Given the description of an element on the screen output the (x, y) to click on. 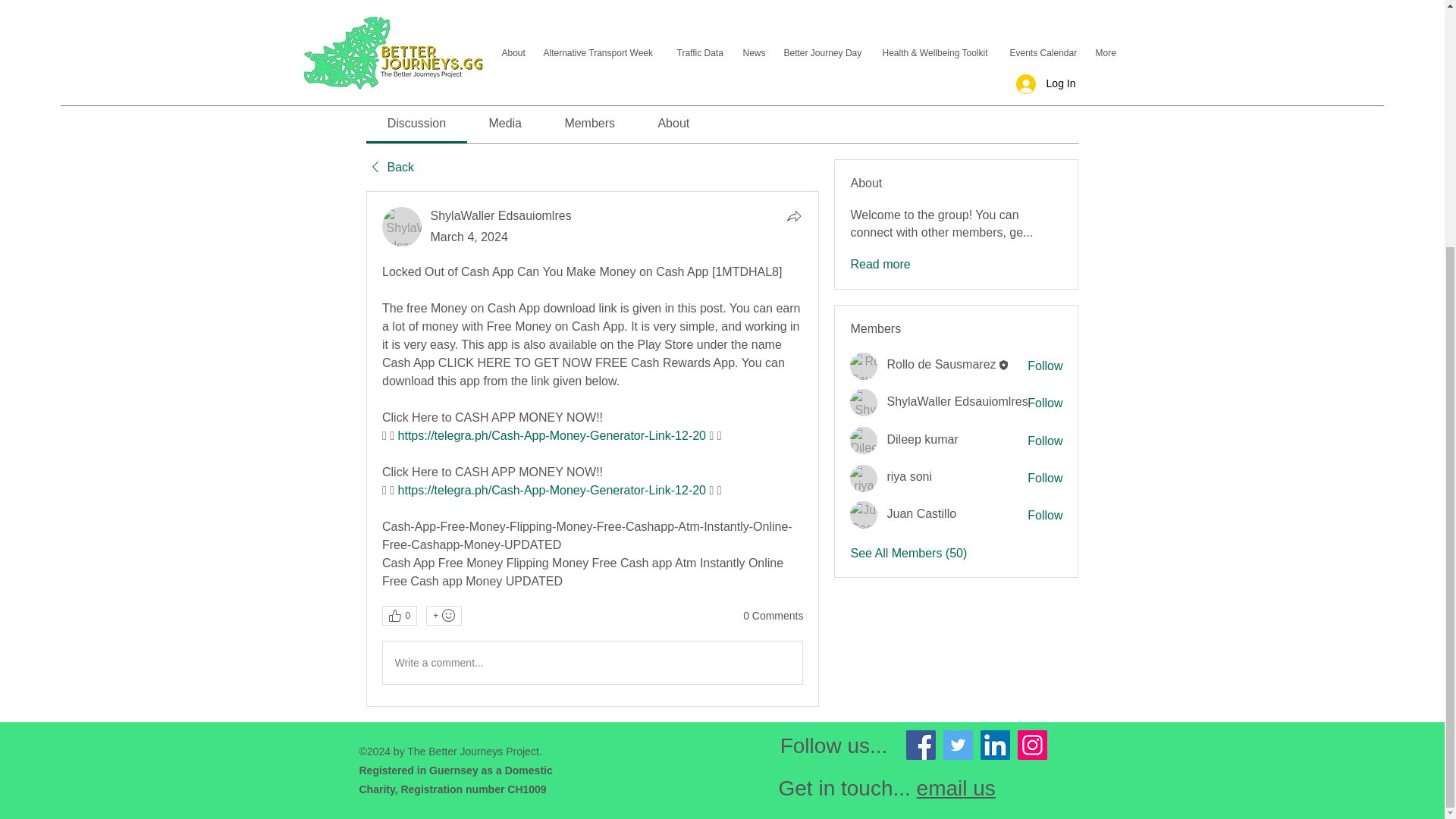
ShylaWaller Edsauiomlres (956, 400)
Follow (1044, 365)
riya soni (863, 478)
Join (1013, 68)
ShylaWaller Edsauiomlres (863, 402)
ShylaWaller Edsauiomlres (401, 226)
Juan Castillo (921, 513)
Follow (1044, 402)
riya soni (908, 476)
